Given the description of an element on the screen output the (x, y) to click on. 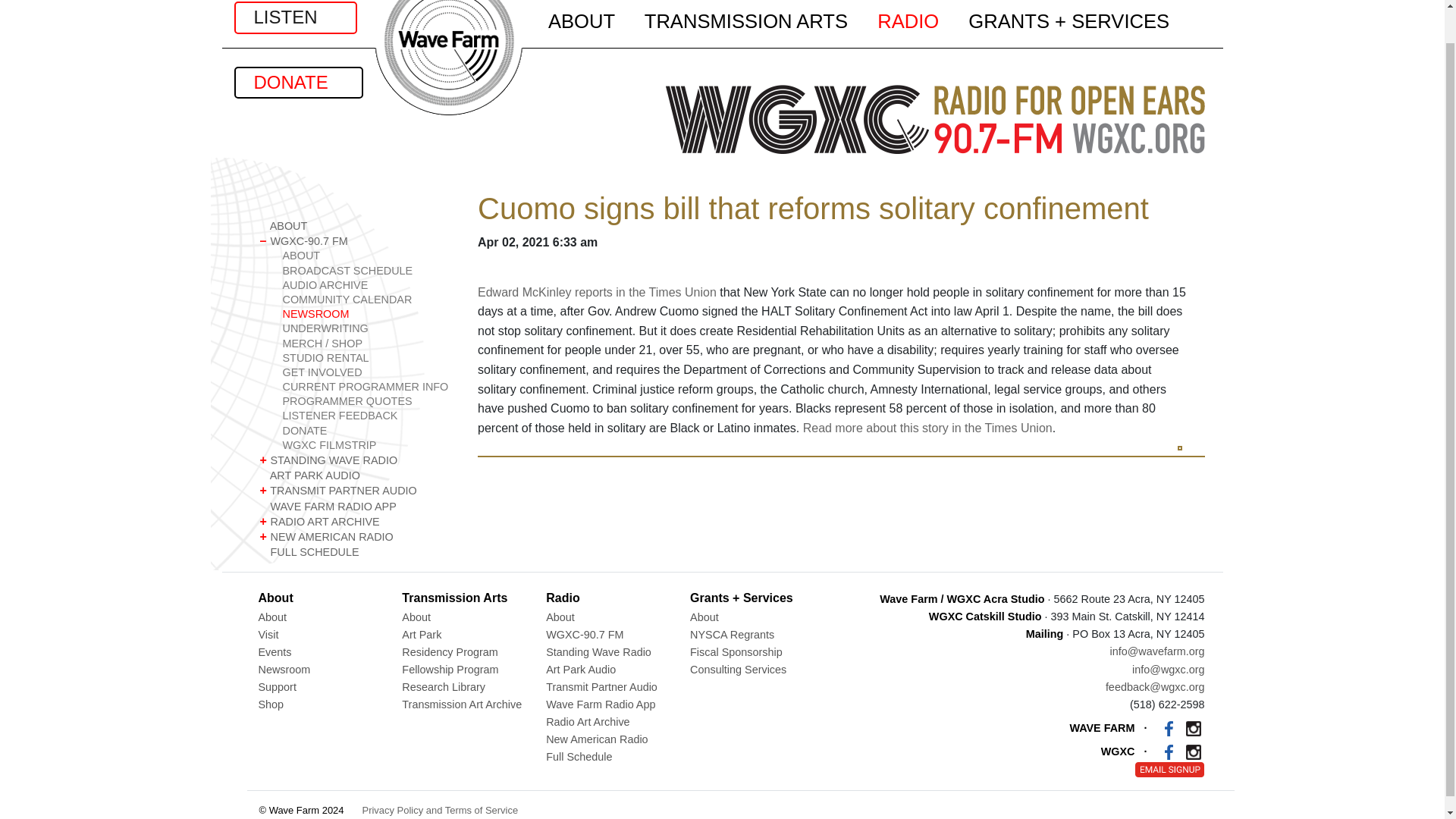
  ABOUT (355, 225)
LISTEN     (294, 17)
BROADCAST SCHEDULE (367, 270)
DONATE    (297, 82)
ABOUT (367, 255)
